Given the description of an element on the screen output the (x, y) to click on. 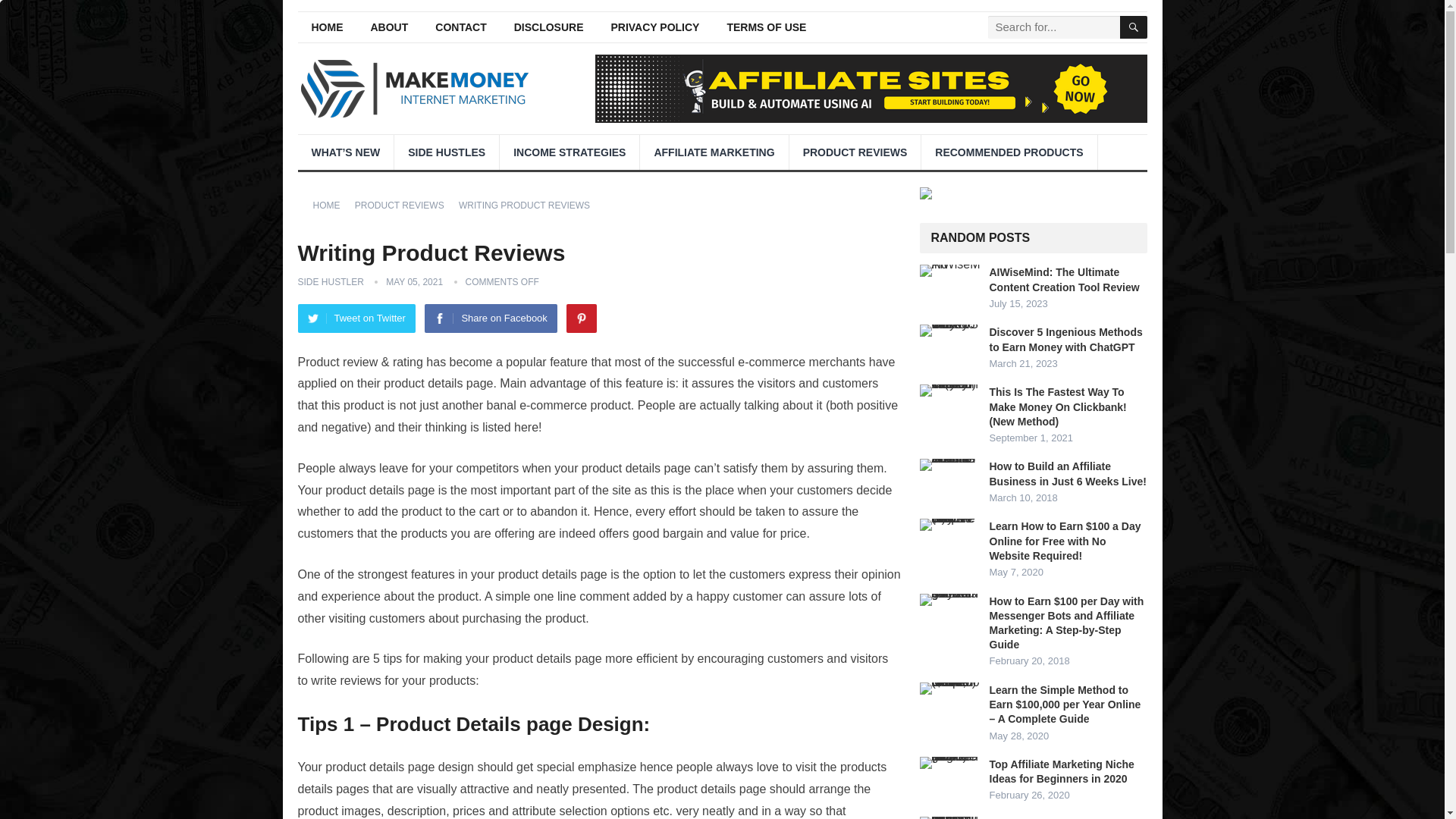
AFFILIATE MARKETING (713, 152)
ABOUT (389, 27)
Posts by Side Hustler (329, 281)
Pinterest (581, 317)
SIDE HUSTLES (446, 152)
RECOMMENDED PRODUCTS (1008, 152)
View all posts in Product Reviews (404, 204)
Tweet on Twitter (355, 317)
CONTACT (460, 27)
DISCLOSURE (548, 27)
